Given the description of an element on the screen output the (x, y) to click on. 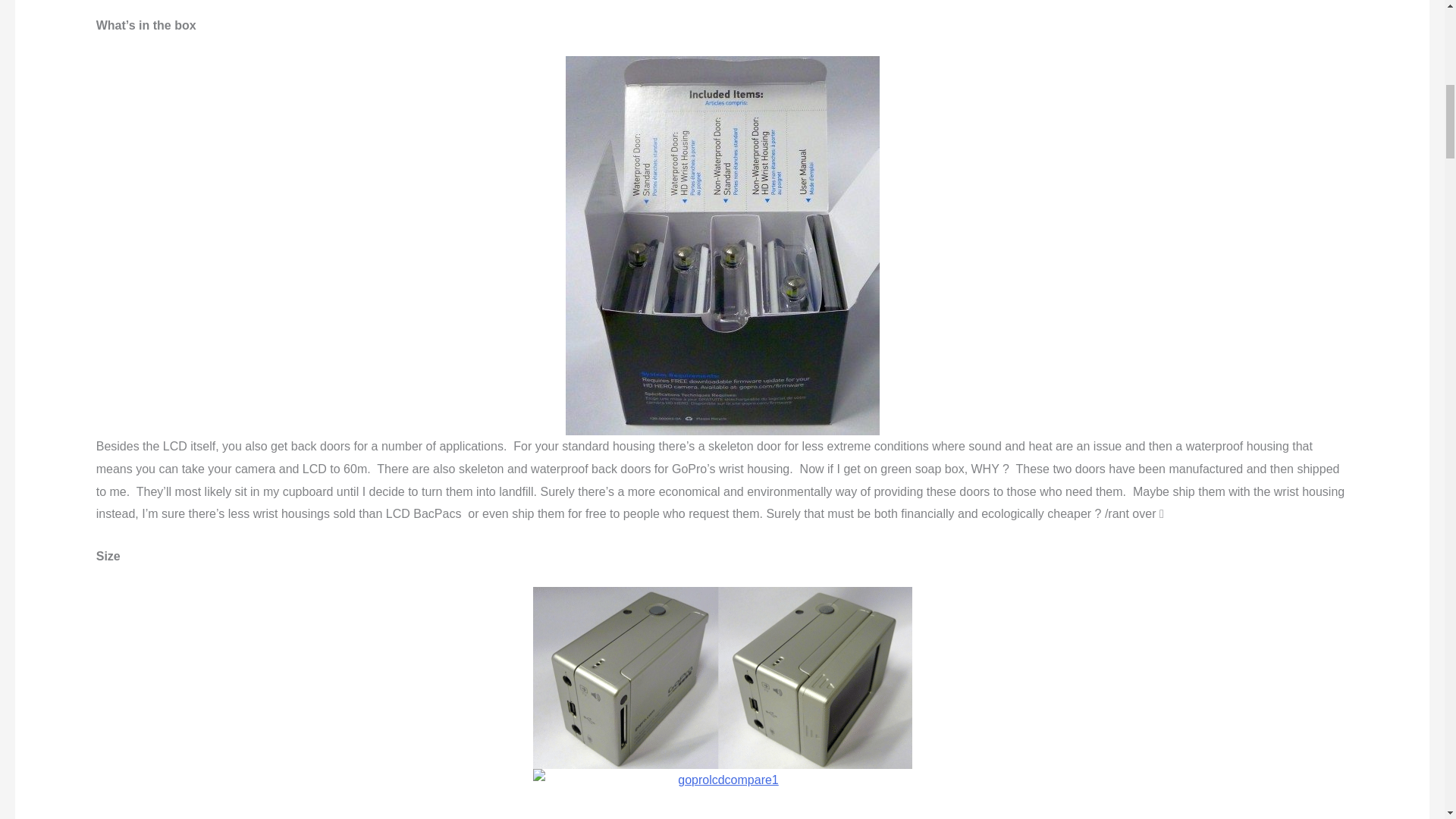
goprolcdcompare1 (721, 794)
goprolcdcompare (721, 678)
